Given the description of an element on the screen output the (x, y) to click on. 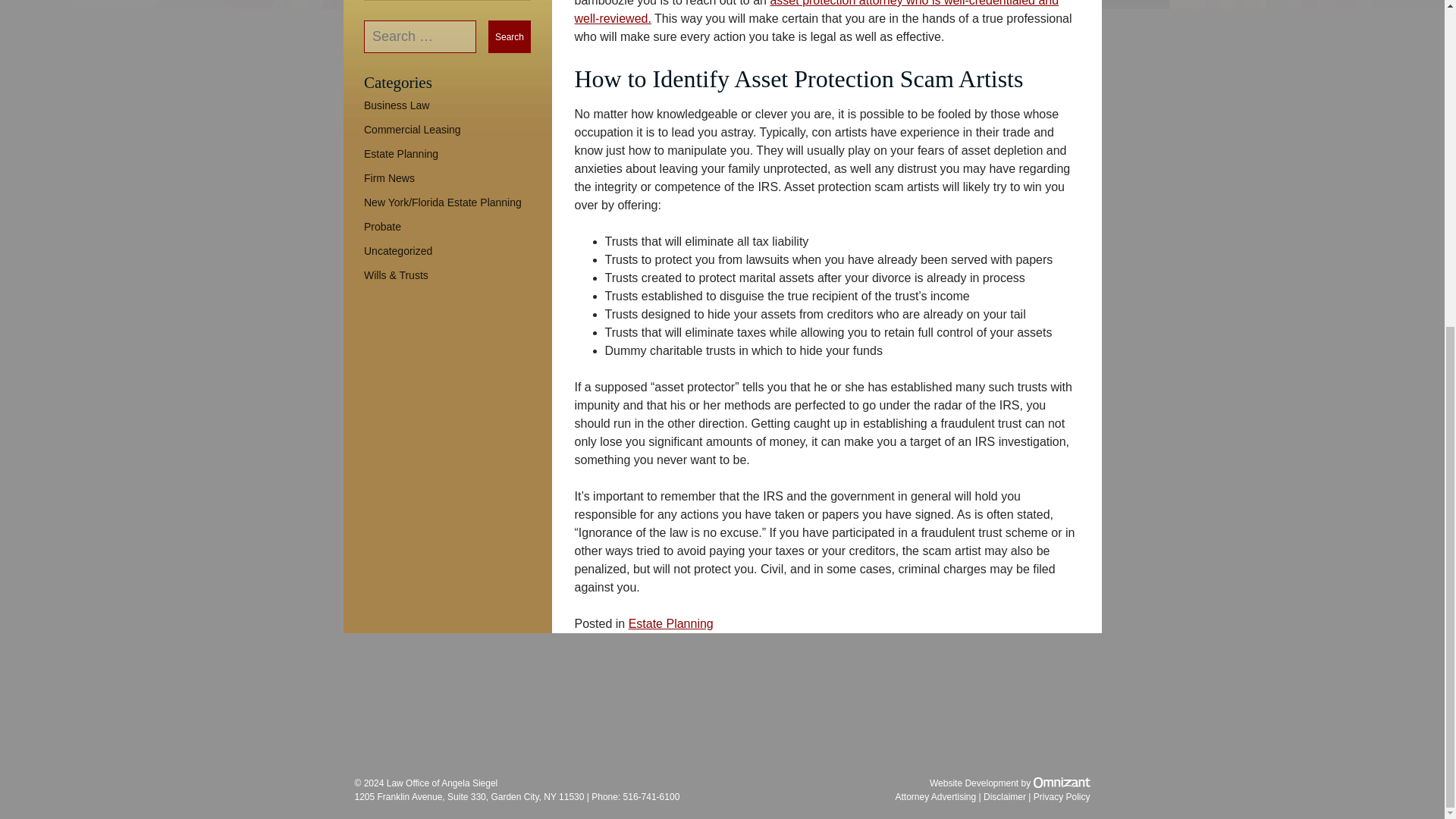
Search (509, 36)
Firm News (389, 177)
Commercial Leasing (412, 129)
Estate Planning (401, 153)
Search (509, 36)
Business Law (396, 105)
Probate (382, 226)
Uncategorized (398, 250)
Search (509, 36)
